Given the description of an element on the screen output the (x, y) to click on. 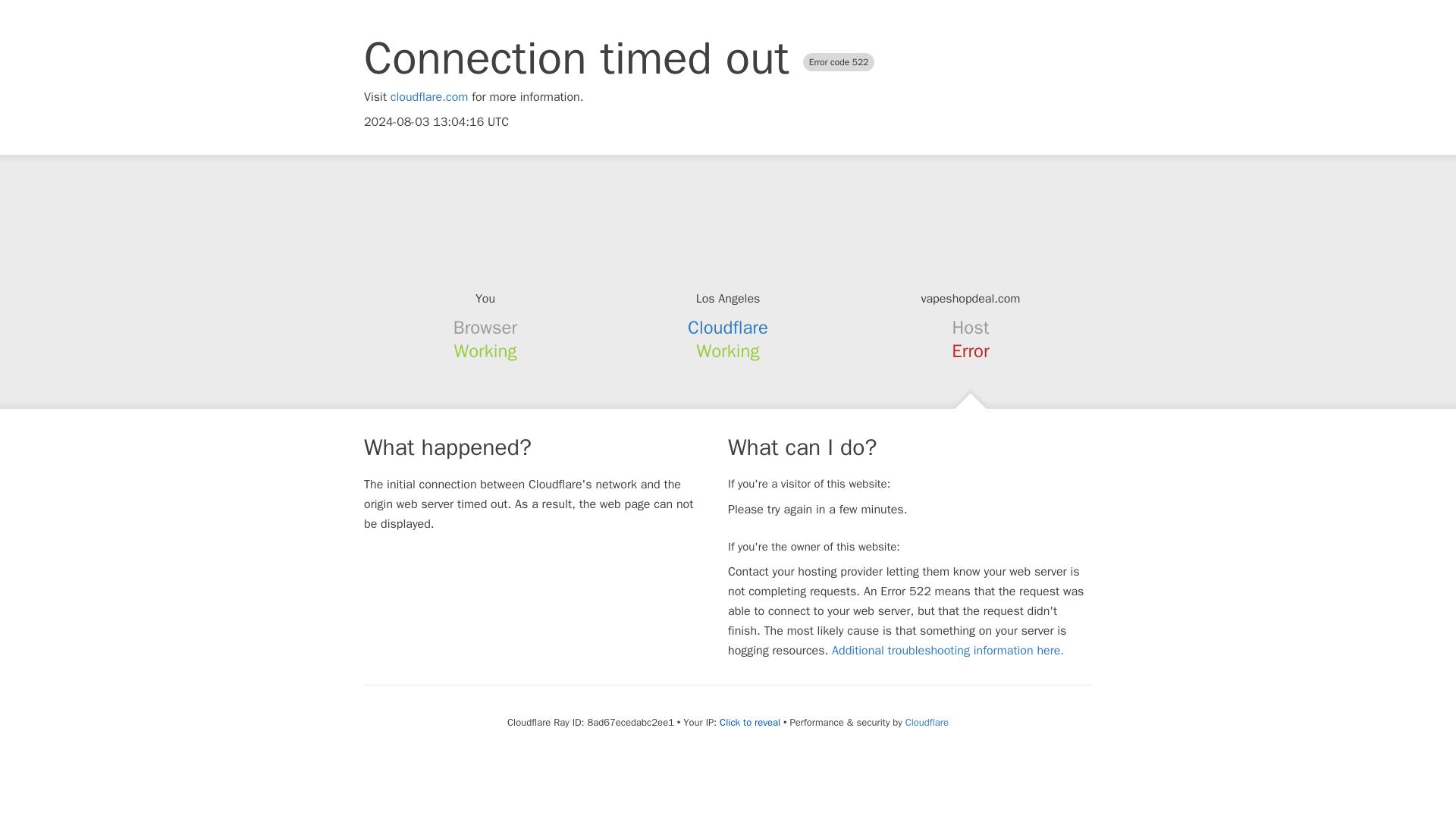
Cloudflare (927, 721)
cloudflare.com (429, 96)
Cloudflare (727, 327)
Additional troubleshooting information here. (947, 650)
Click to reveal (749, 722)
